Given the description of an element on the screen output the (x, y) to click on. 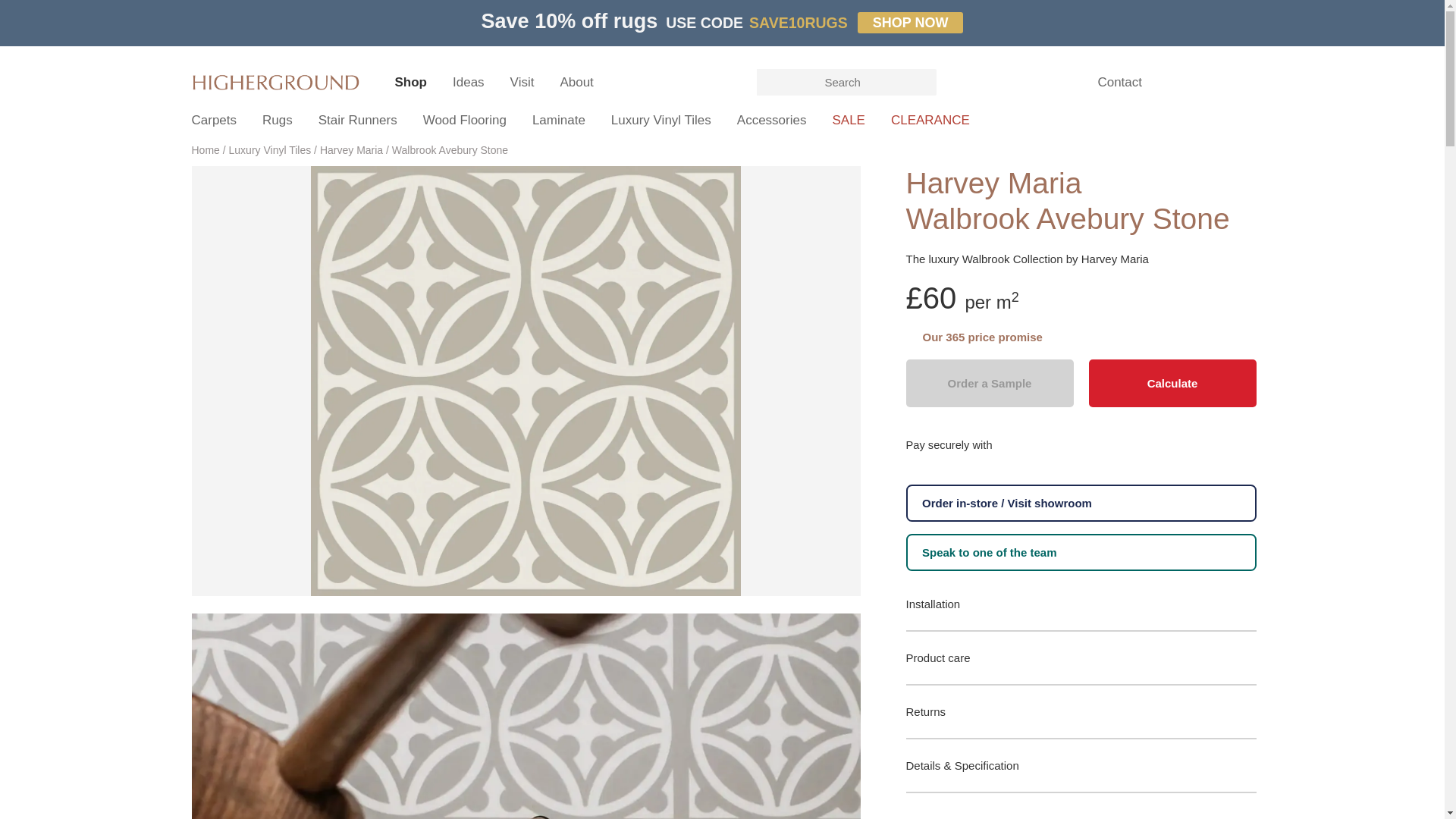
SHOP NOW (910, 22)
Carpets (212, 119)
USE CODE (703, 22)
